Given the description of an element on the screen output the (x, y) to click on. 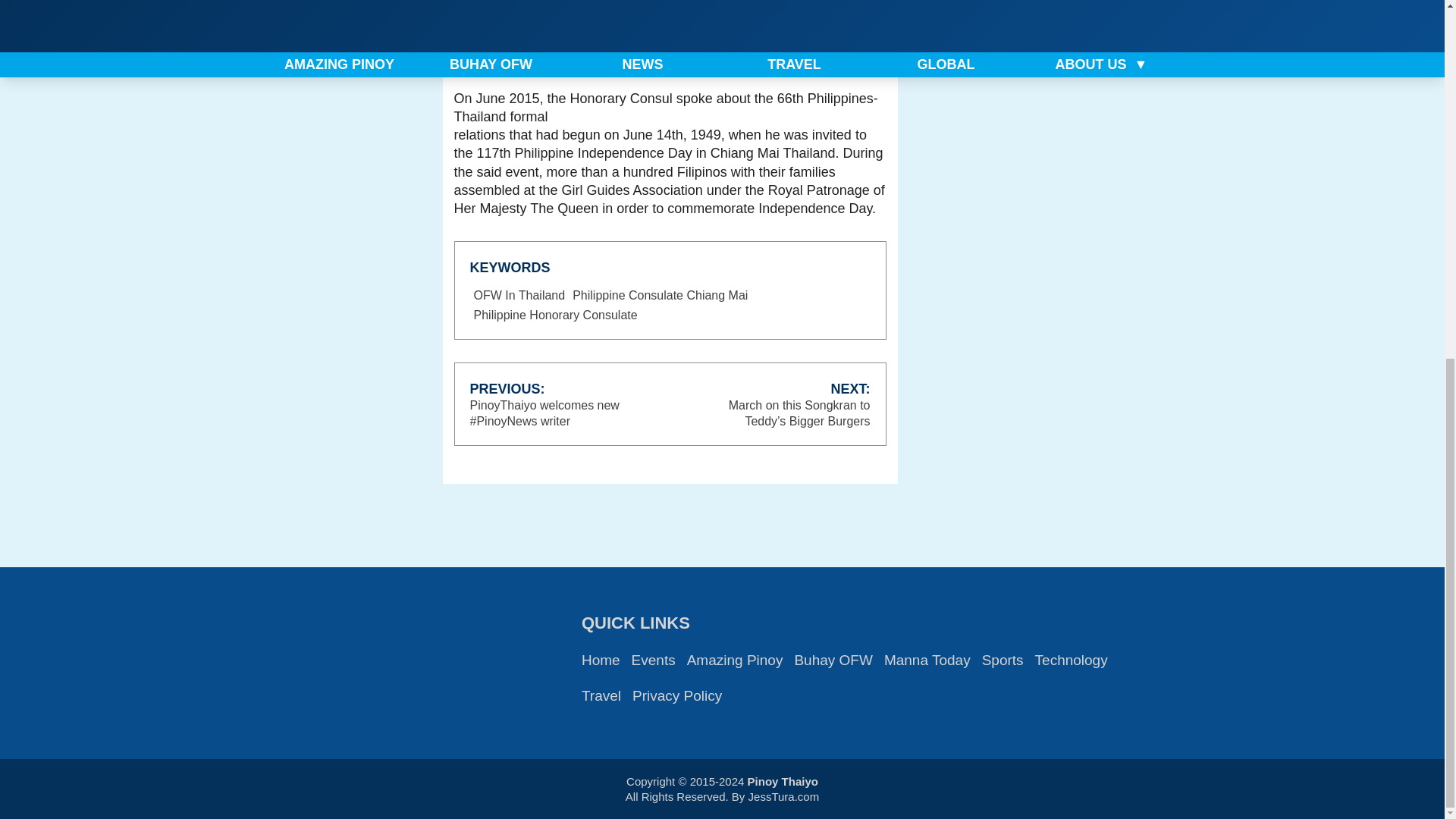
Philippine Consulate Chiang Mai (660, 295)
OFW In Thailand (519, 295)
Philippine Honorary Consulate (556, 315)
